Given the description of an element on the screen output the (x, y) to click on. 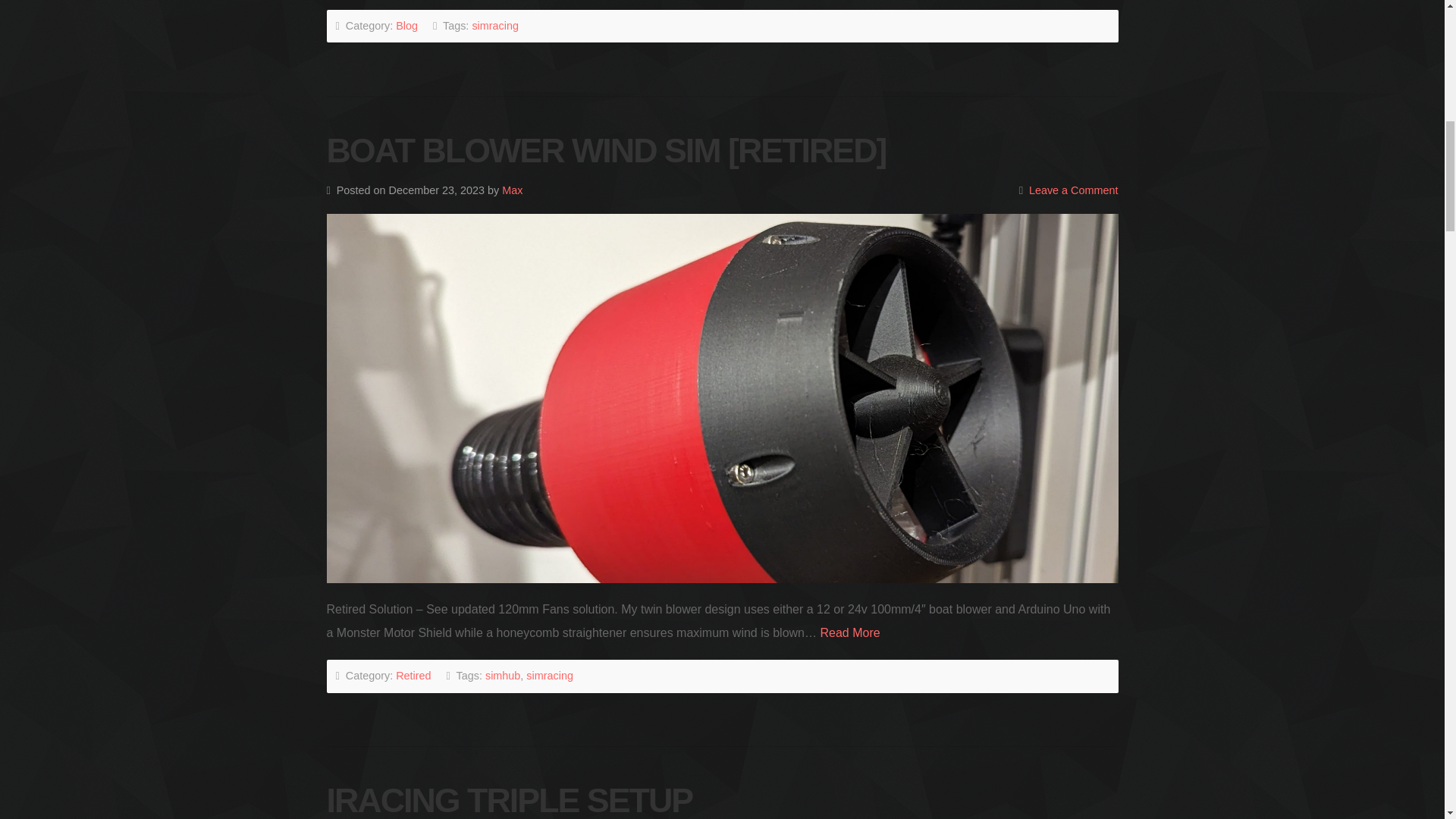
IRACING TRIPLE SETUP (509, 800)
Posts by Max (512, 190)
Retired (413, 675)
simracing (549, 675)
simracing (494, 25)
Max (512, 190)
Read More (849, 632)
simhub (501, 675)
Blog (406, 25)
Leave a Comment (1073, 190)
